Given the description of an element on the screen output the (x, y) to click on. 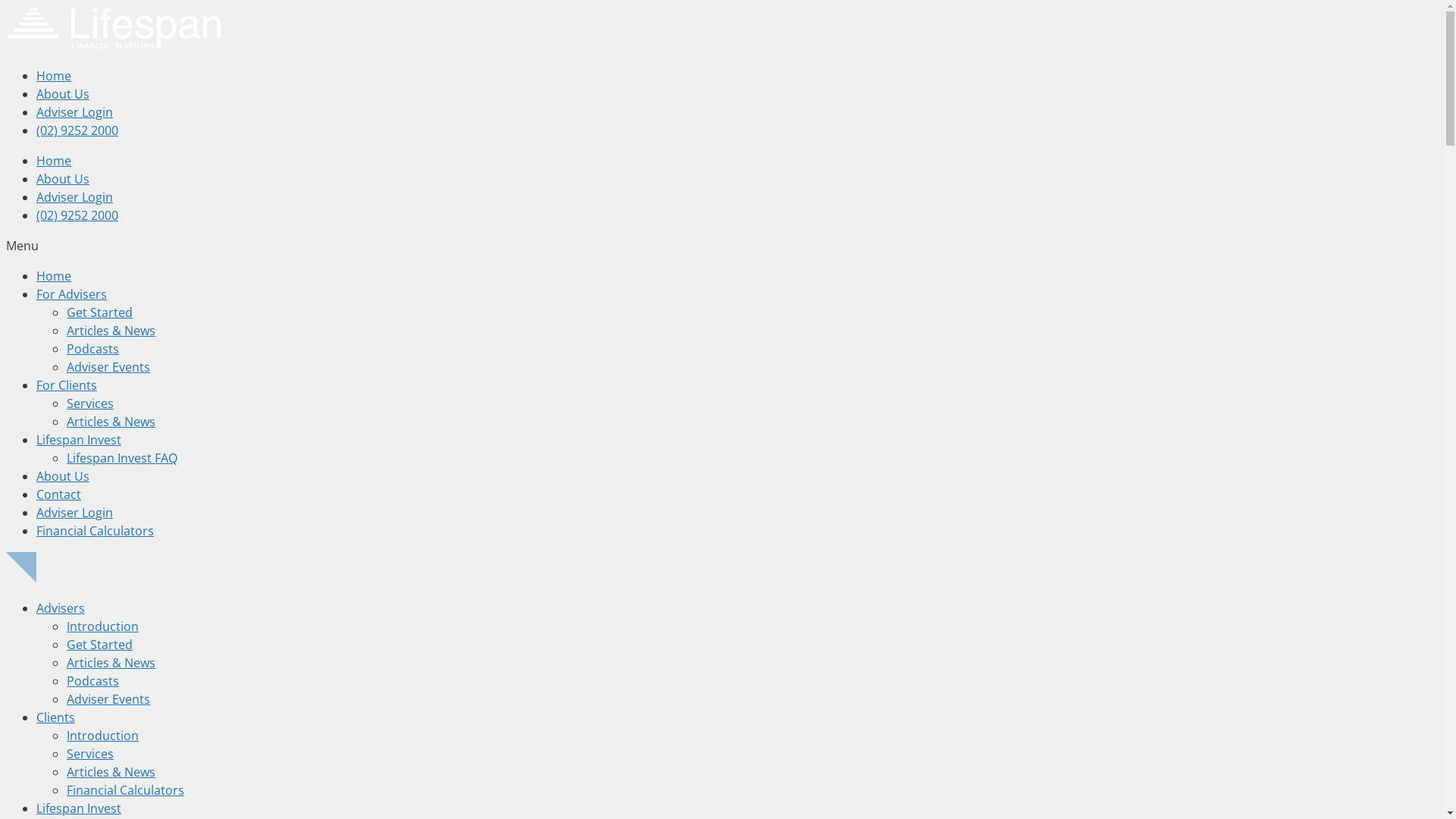
Get Started Element type: text (99, 312)
Articles & News Element type: text (110, 662)
Podcasts Element type: text (92, 680)
Introduction Element type: text (102, 626)
Articles & News Element type: text (110, 771)
Clients Element type: text (55, 717)
Adviser Login Element type: text (74, 111)
Financial Calculators Element type: text (94, 530)
About Us Element type: text (62, 475)
For Clients Element type: text (66, 384)
Home Element type: text (53, 275)
Advisers Element type: text (60, 607)
Articles & News Element type: text (110, 421)
(02) 9252 2000 Element type: text (77, 215)
Adviser Login Element type: text (74, 512)
Lifespan Invest FAQ Element type: text (121, 457)
Adviser Events Element type: text (108, 698)
Articles & News Element type: text (110, 330)
Home Element type: text (53, 75)
Adviser Events Element type: text (108, 366)
Lifespan Invest Element type: text (78, 808)
For Advisers Element type: text (71, 293)
About Us Element type: text (62, 178)
Skip to content Element type: text (5, 5)
About Us Element type: text (62, 93)
Introduction Element type: text (102, 735)
menu-edge Element type: hover (21, 567)
Services Element type: text (89, 403)
Get Started Element type: text (99, 644)
Home Element type: text (53, 160)
(02) 9252 2000 Element type: text (77, 130)
Podcasts Element type: text (92, 348)
Financial Calculators Element type: text (125, 789)
Services Element type: text (89, 753)
Adviser Login Element type: text (74, 196)
Lifespan Invest Element type: text (78, 439)
Contact Element type: text (58, 494)
